Given the description of an element on the screen output the (x, y) to click on. 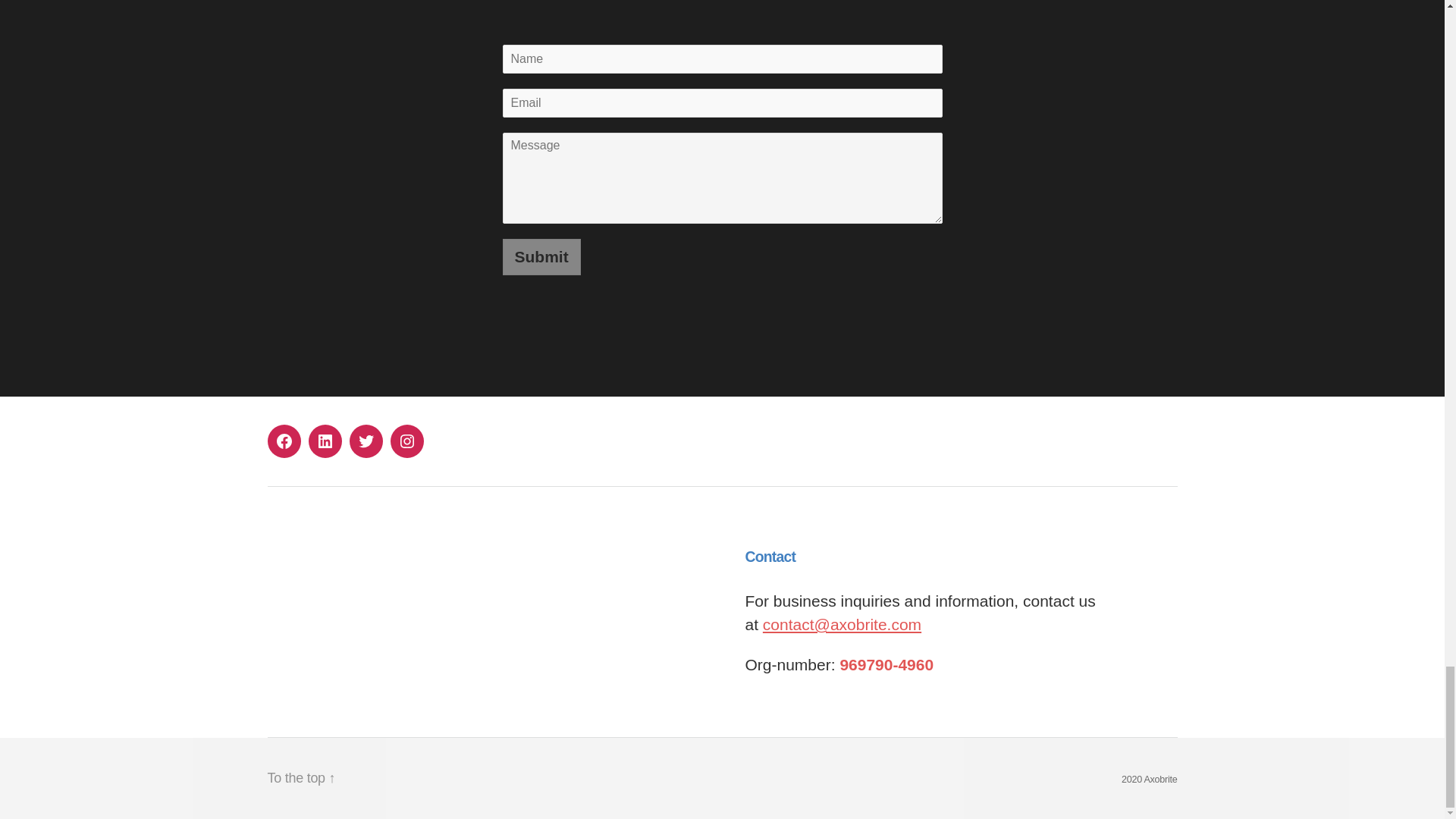
Twitter (365, 441)
Instagram (406, 441)
Submit (540, 257)
LinkedIn (323, 441)
Facebook (282, 441)
